Given the description of an element on the screen output the (x, y) to click on. 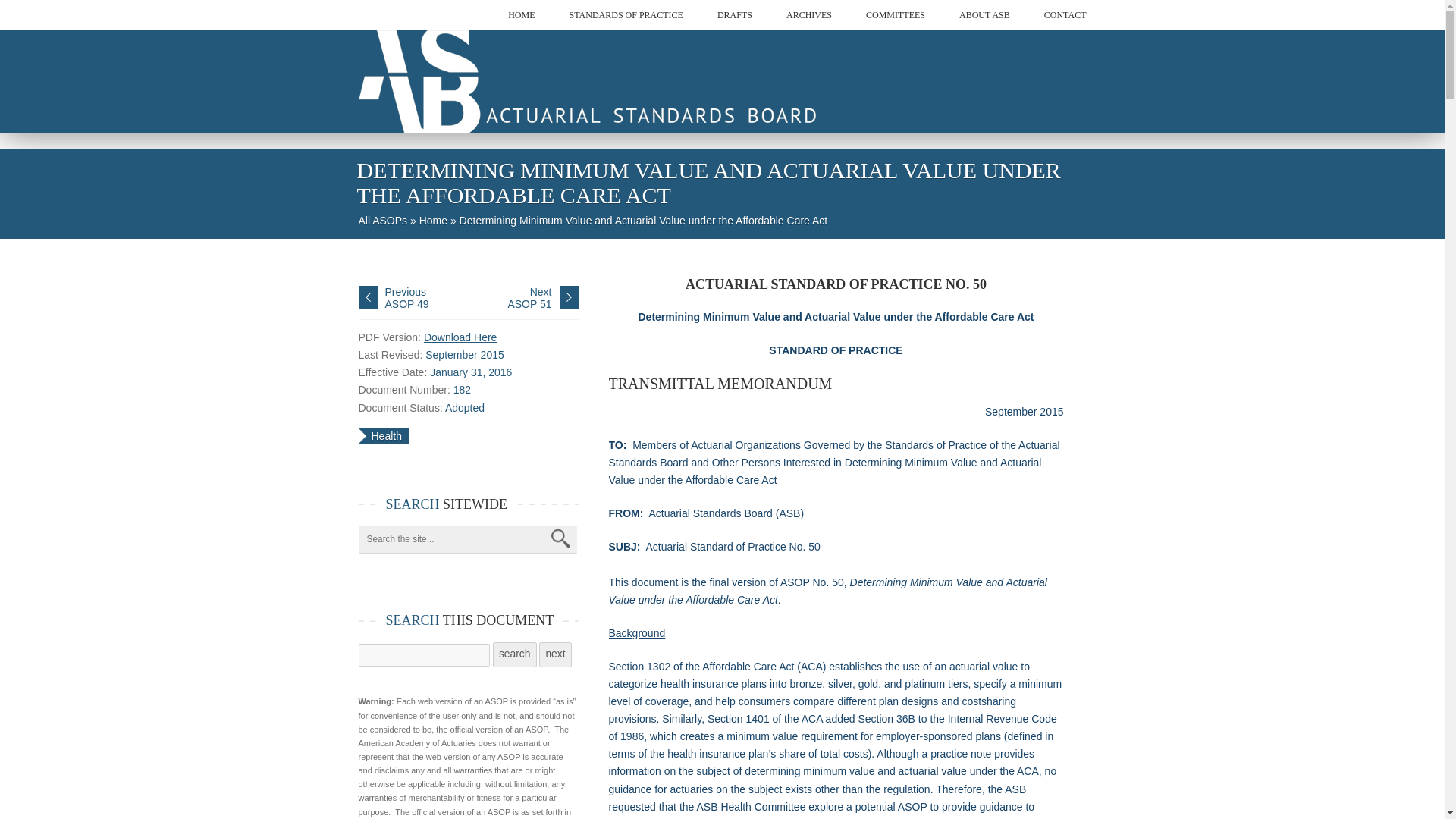
DRAFTS (734, 15)
Home (586, 123)
ARCHIVES (808, 15)
COMMITTEES (895, 15)
STANDARDS OF PRACTICE (625, 15)
ABOUT ASB (984, 15)
